Given the description of an element on the screen output the (x, y) to click on. 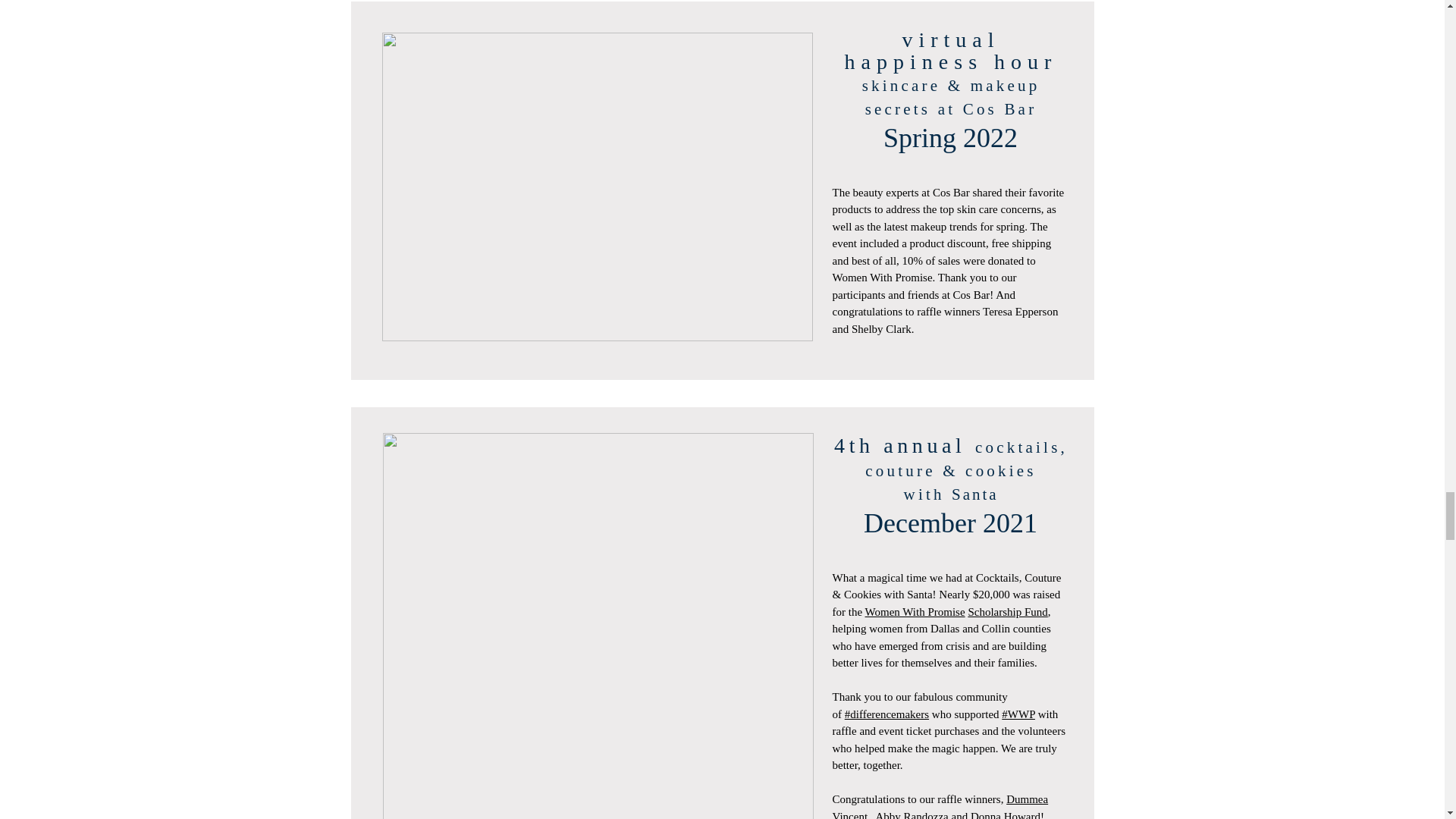
Scholarship Fund (1007, 611)
Women With Promise (914, 611)
Dummea Vincent. (940, 806)
